Given the description of an element on the screen output the (x, y) to click on. 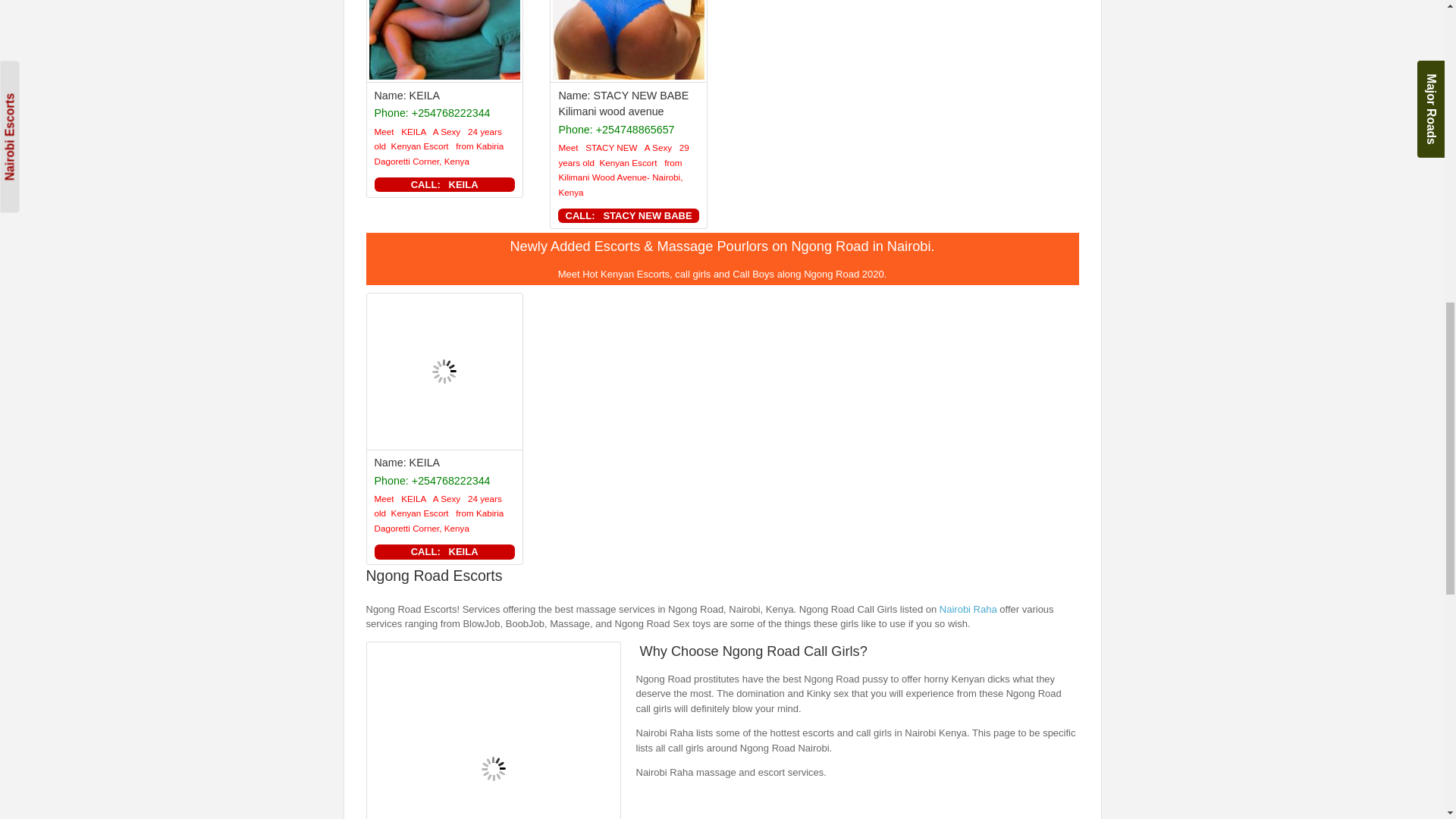
Name: (391, 95)
STACY NEW BABE Kilimani wood avenue (622, 103)
CALL:   STACY NEW BABE (627, 215)
KEILA (425, 95)
CALL:   KEILA (444, 184)
Name: (574, 95)
